Given the description of an element on the screen output the (x, y) to click on. 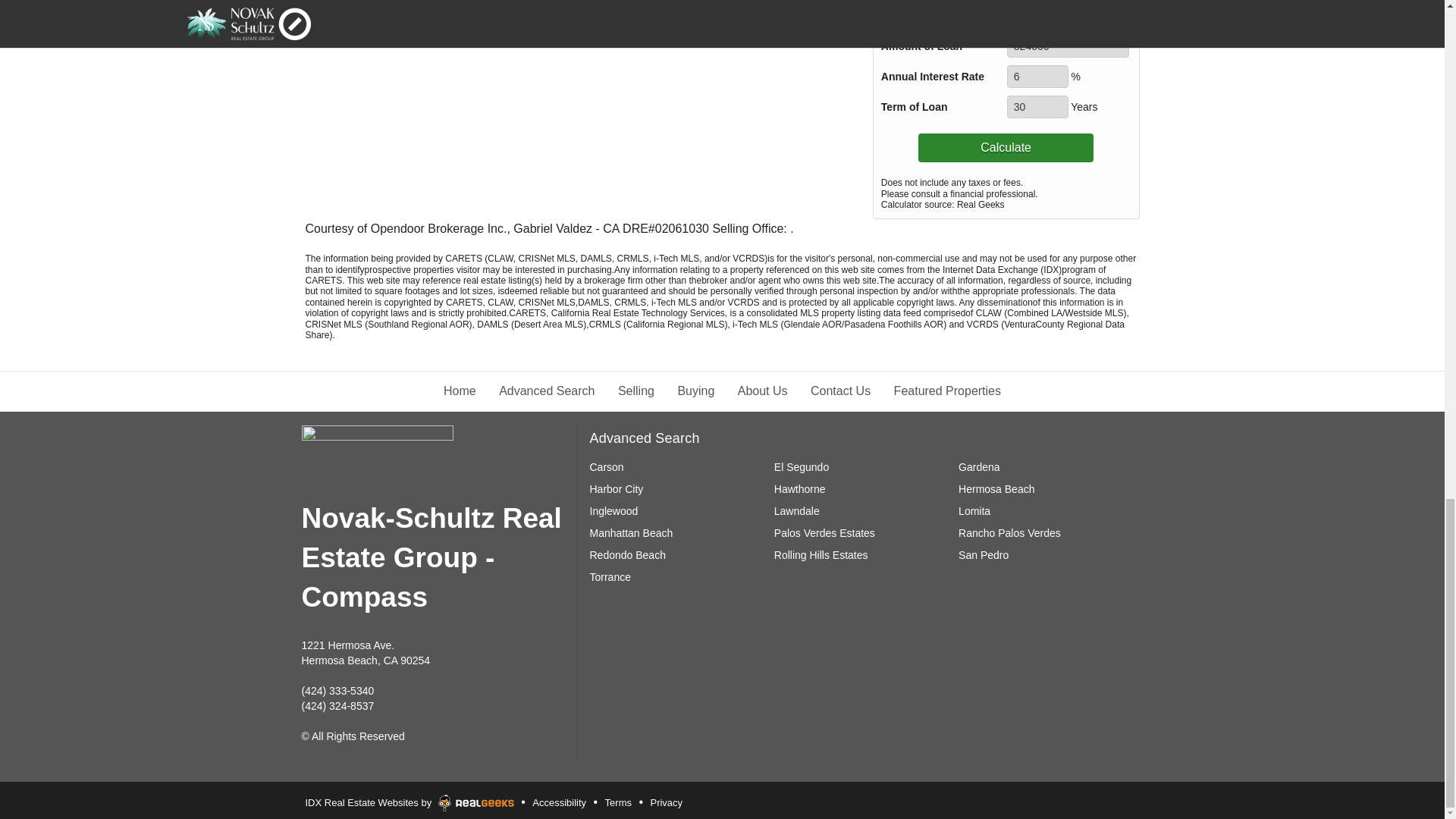
6 (1037, 76)
824000 (1068, 46)
30 (1037, 106)
